Given the description of an element on the screen output the (x, y) to click on. 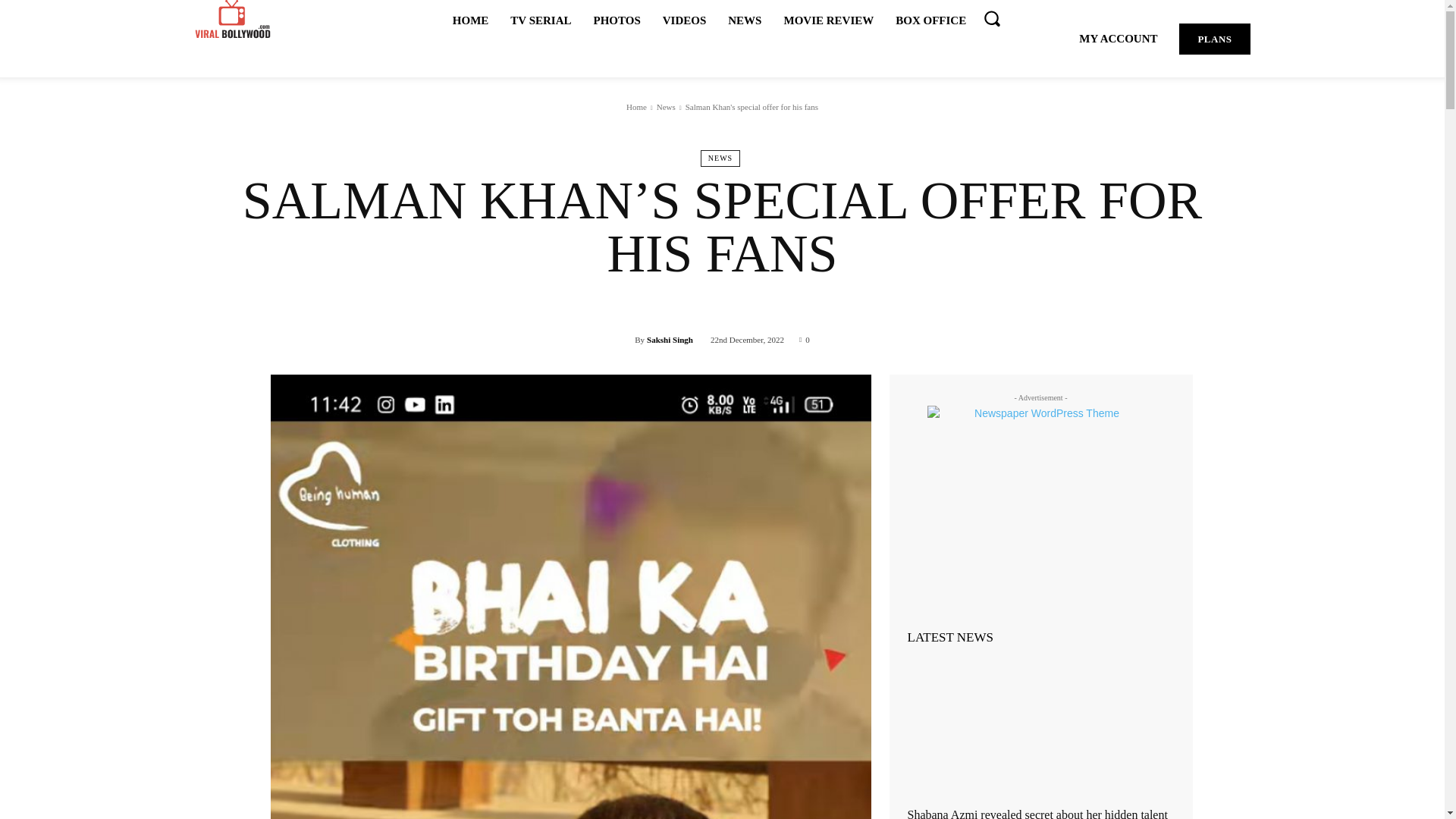
MOVIE REVIEW (828, 20)
View all posts in News (665, 106)
TV SERIAL (539, 20)
Home (636, 106)
PHOTOS (616, 20)
News (665, 106)
NEWS (744, 20)
NEWS (719, 158)
VIDEOS (684, 20)
BOX OFFICE (930, 20)
PLANS (1214, 38)
Viralbollywood (231, 20)
HOME (470, 20)
